Given the description of an element on the screen output the (x, y) to click on. 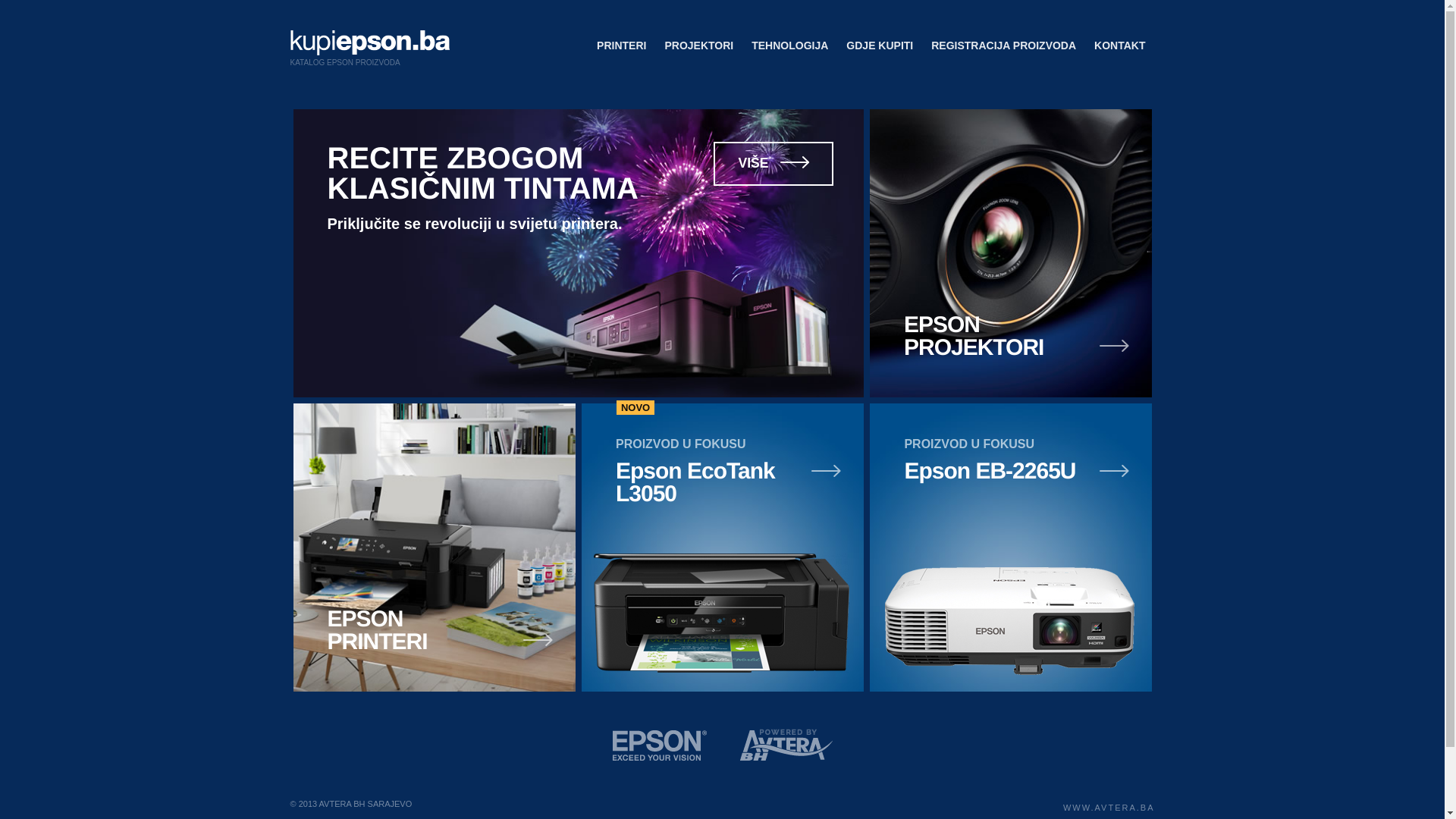
EPSON PROJEKTORI Element type: text (1010, 253)
REGISTRACIJA PROIZVODA Element type: text (1003, 45)
TEHNOLOGIJA Element type: text (789, 45)
PRINTERI Element type: text (621, 45)
WWW.AVTERA.BA Element type: text (1108, 807)
KATALOG EPSON PROIZVODA Element type: text (364, 52)
PROIZVOD U FOKUSU
Epson EB-2265U Element type: text (1010, 547)
PROJEKTORI Element type: text (698, 45)
GDJE KUPITI Element type: text (879, 45)
PROIZVOD U FOKUSU
Epson EcoTank L3050 Element type: text (722, 547)
EPSON
PRINTERI Element type: text (433, 547)
KONTAKT Element type: text (1119, 45)
